Given the description of an element on the screen output the (x, y) to click on. 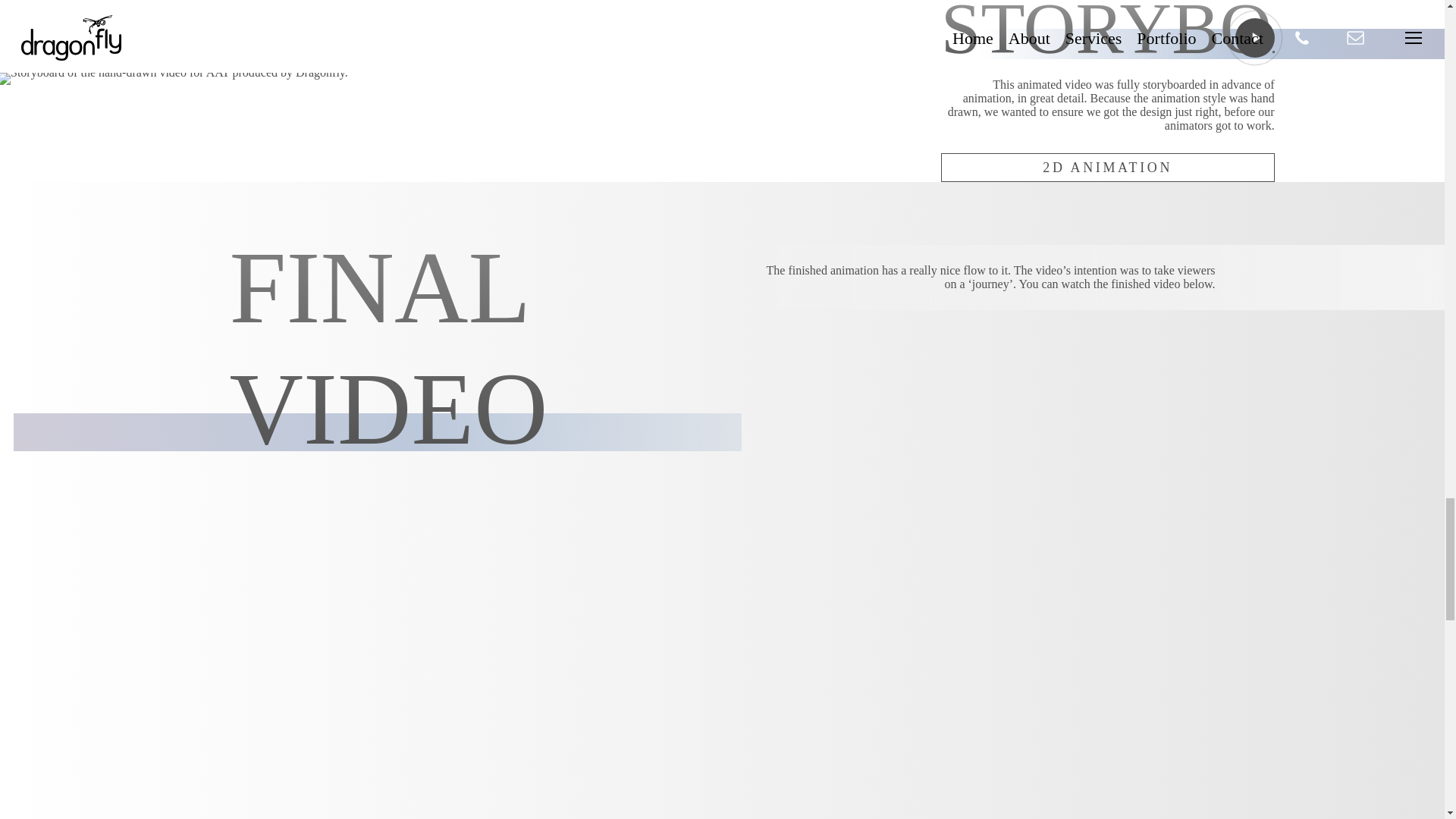
2D ANIMATION (1107, 167)
